Given the description of an element on the screen output the (x, y) to click on. 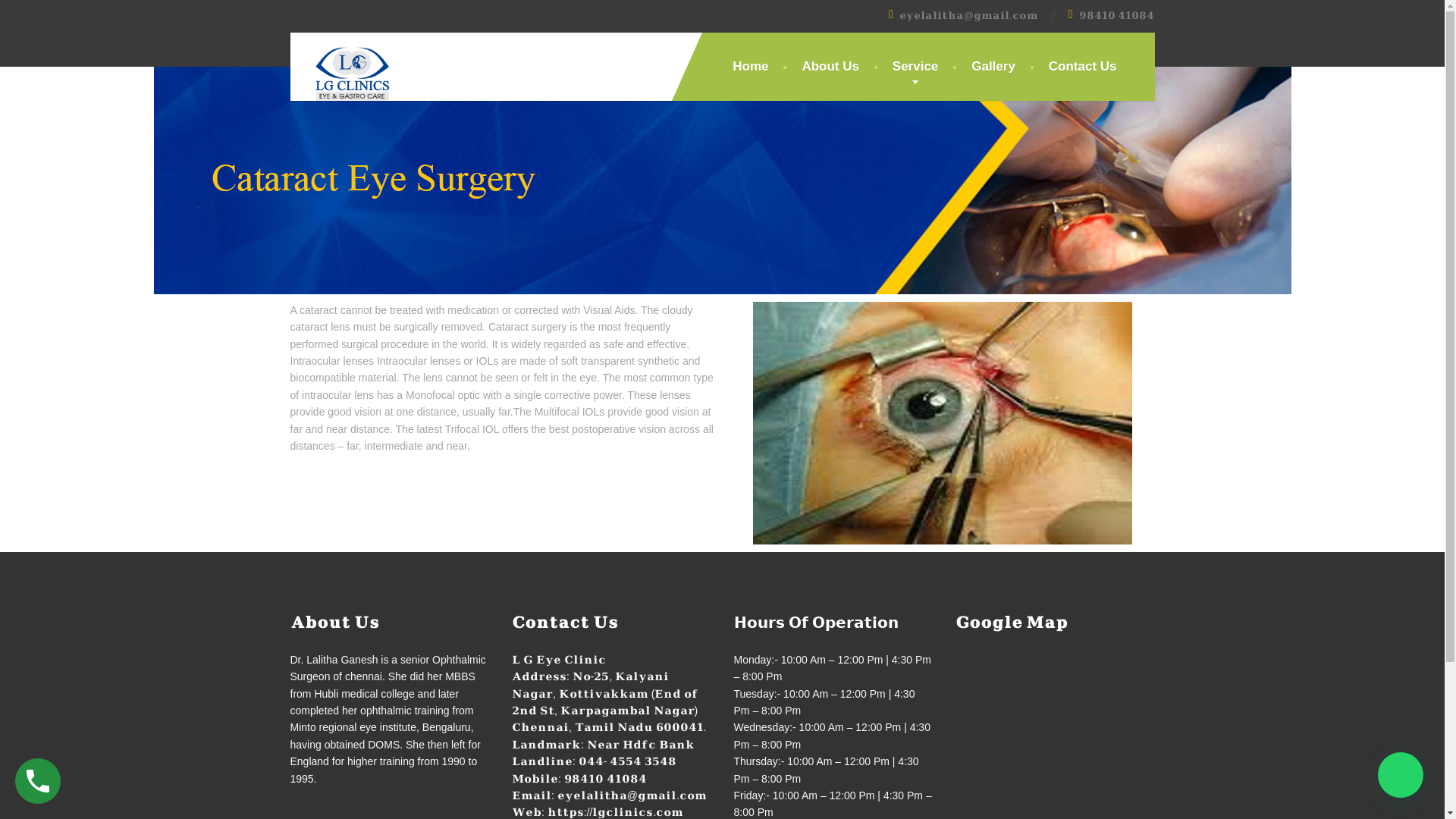
Eye Doctor In Chennai (340, 69)
About Us (830, 66)
Home (750, 66)
Service (915, 66)
Gallery (993, 66)
Contact Us (1082, 66)
